Given the description of an element on the screen output the (x, y) to click on. 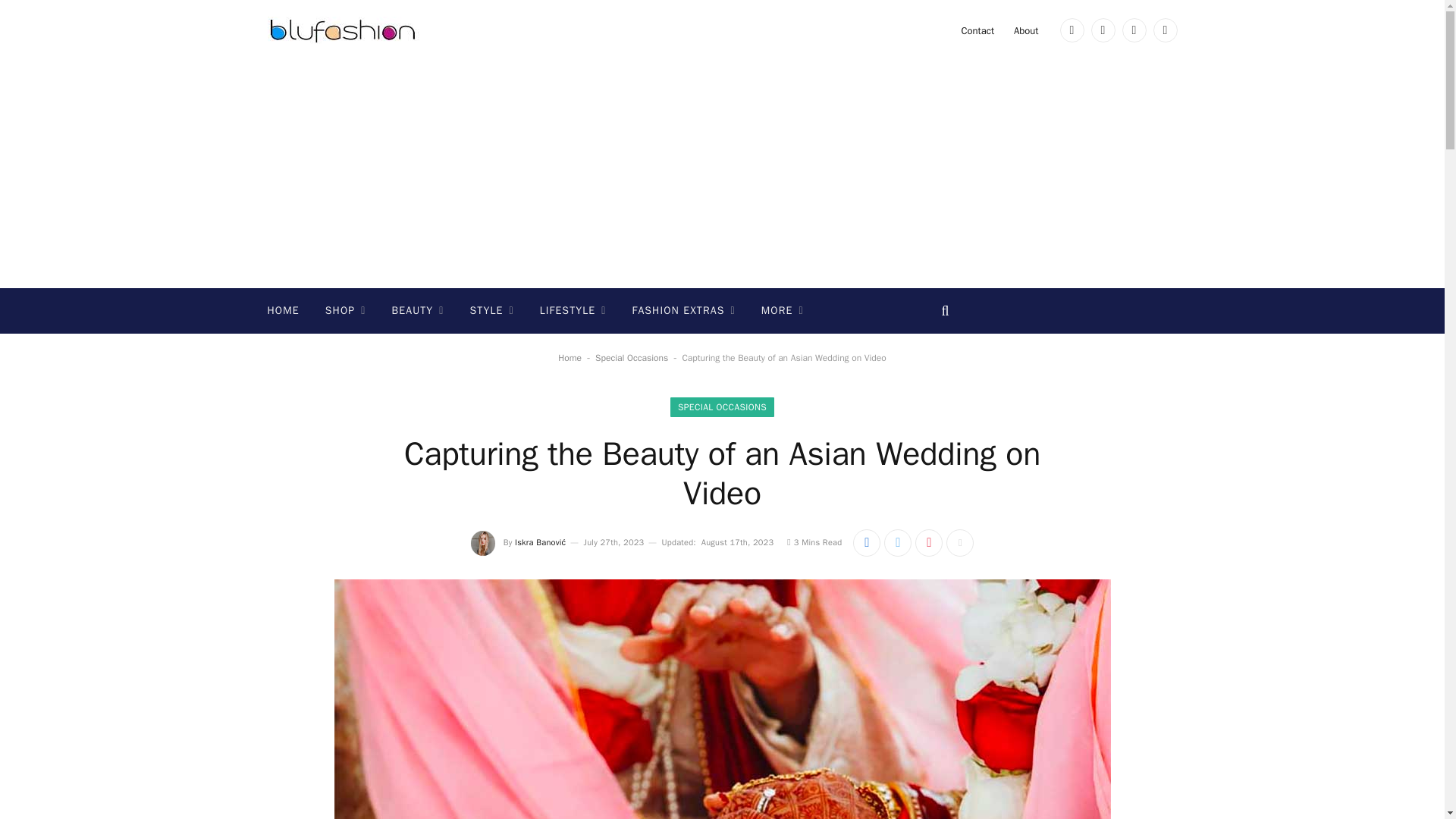
Share on Pinterest (928, 542)
Blufashion.com (342, 30)
Share on Facebook (866, 542)
Show More Social Sharing (960, 542)
